Given the description of an element on the screen output the (x, y) to click on. 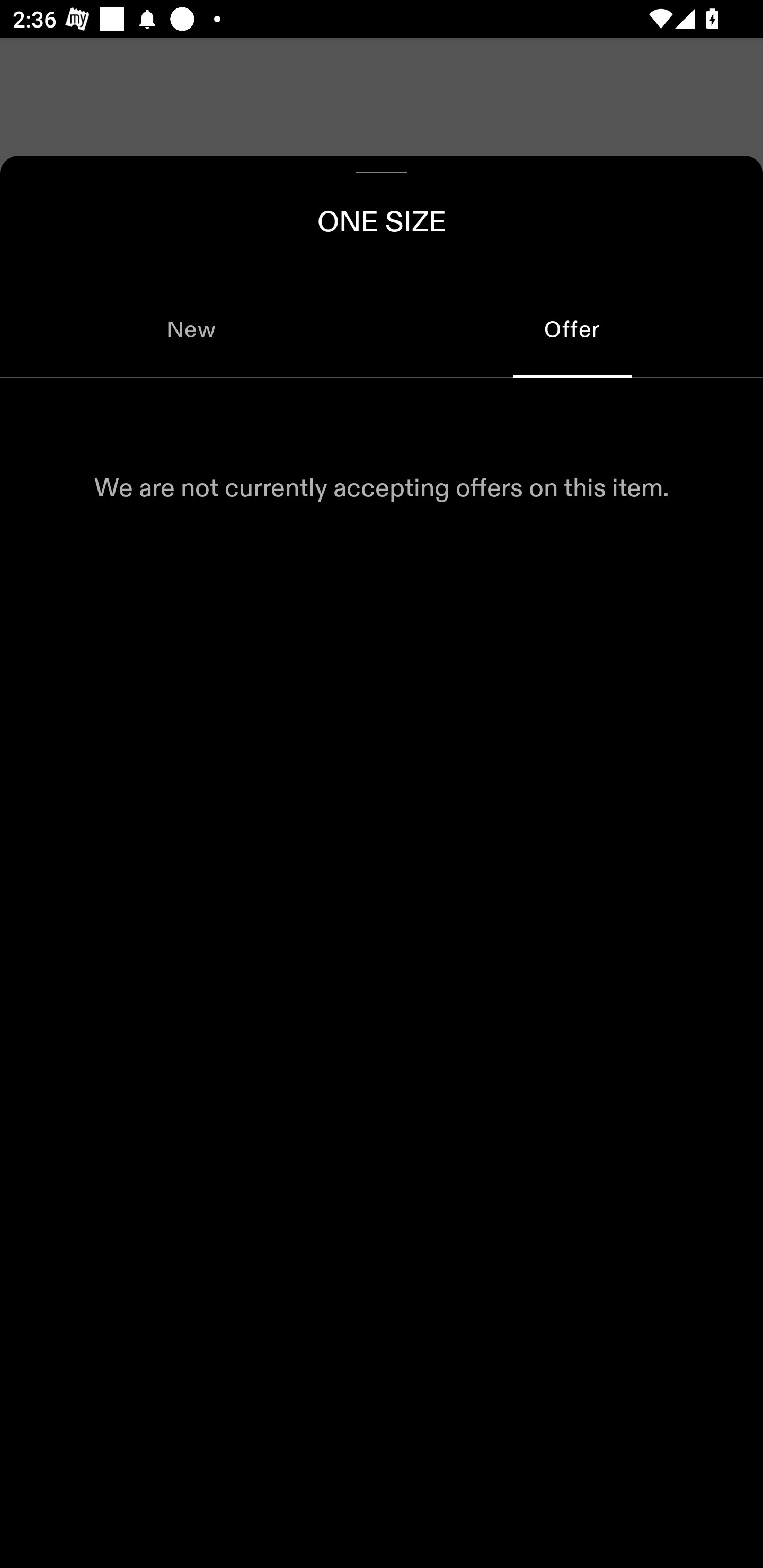
ONE SIZE (381, 218)
New (190, 329)
